Given the description of an element on the screen output the (x, y) to click on. 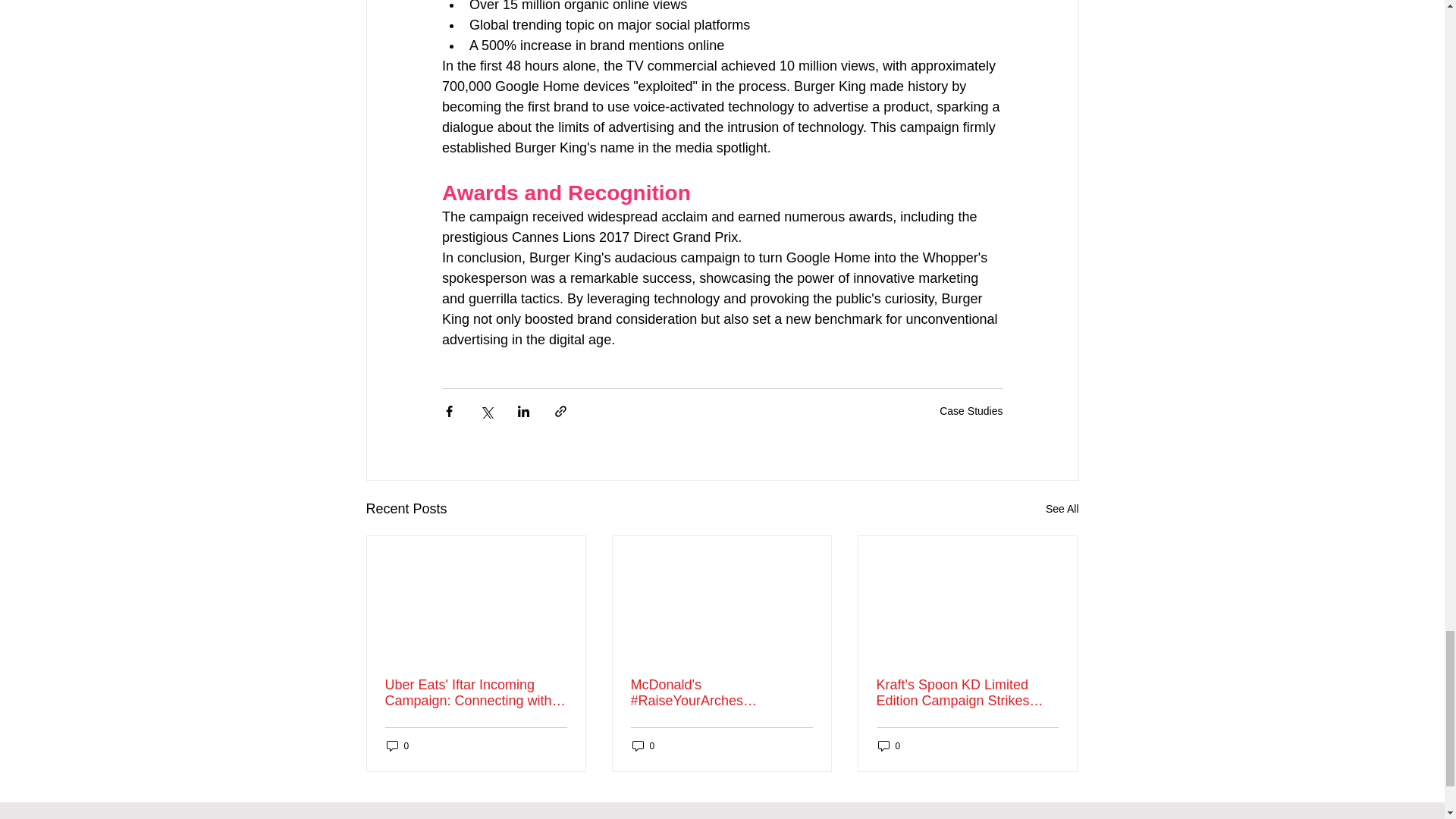
See All (1061, 508)
Case Studies (971, 410)
